Given the description of an element on the screen output the (x, y) to click on. 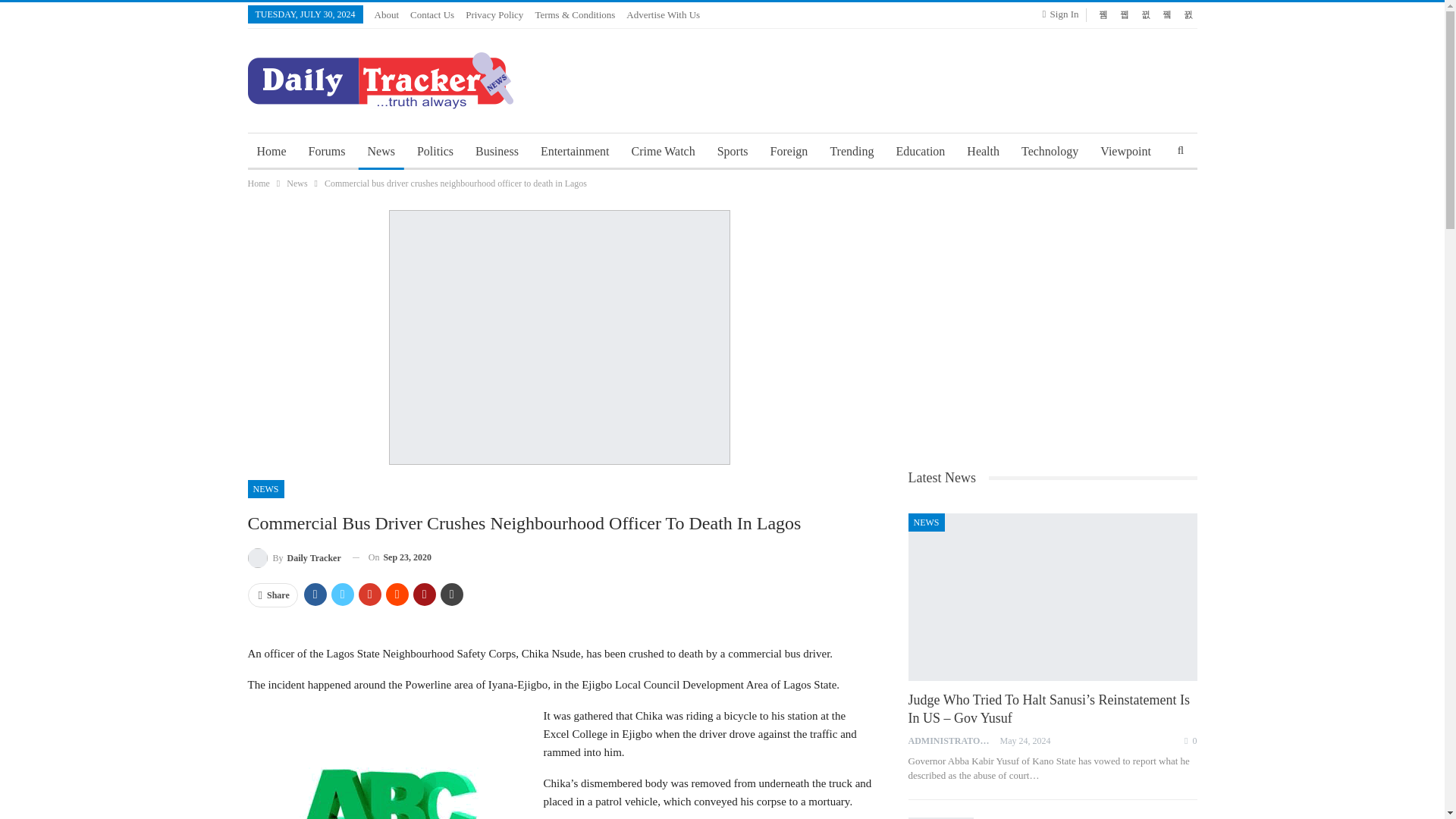
By Daily Tracker (293, 557)
Politics (435, 151)
Trending (851, 151)
Browse Author Articles (293, 557)
Technology (1049, 151)
Privacy Policy (493, 14)
NEWS (265, 488)
Sign In (1063, 13)
Browse Author Articles (954, 740)
Business (496, 151)
News (296, 183)
News (381, 151)
Foreign (788, 151)
Crime Watch (663, 151)
Contact Us (432, 14)
